Given the description of an element on the screen output the (x, y) to click on. 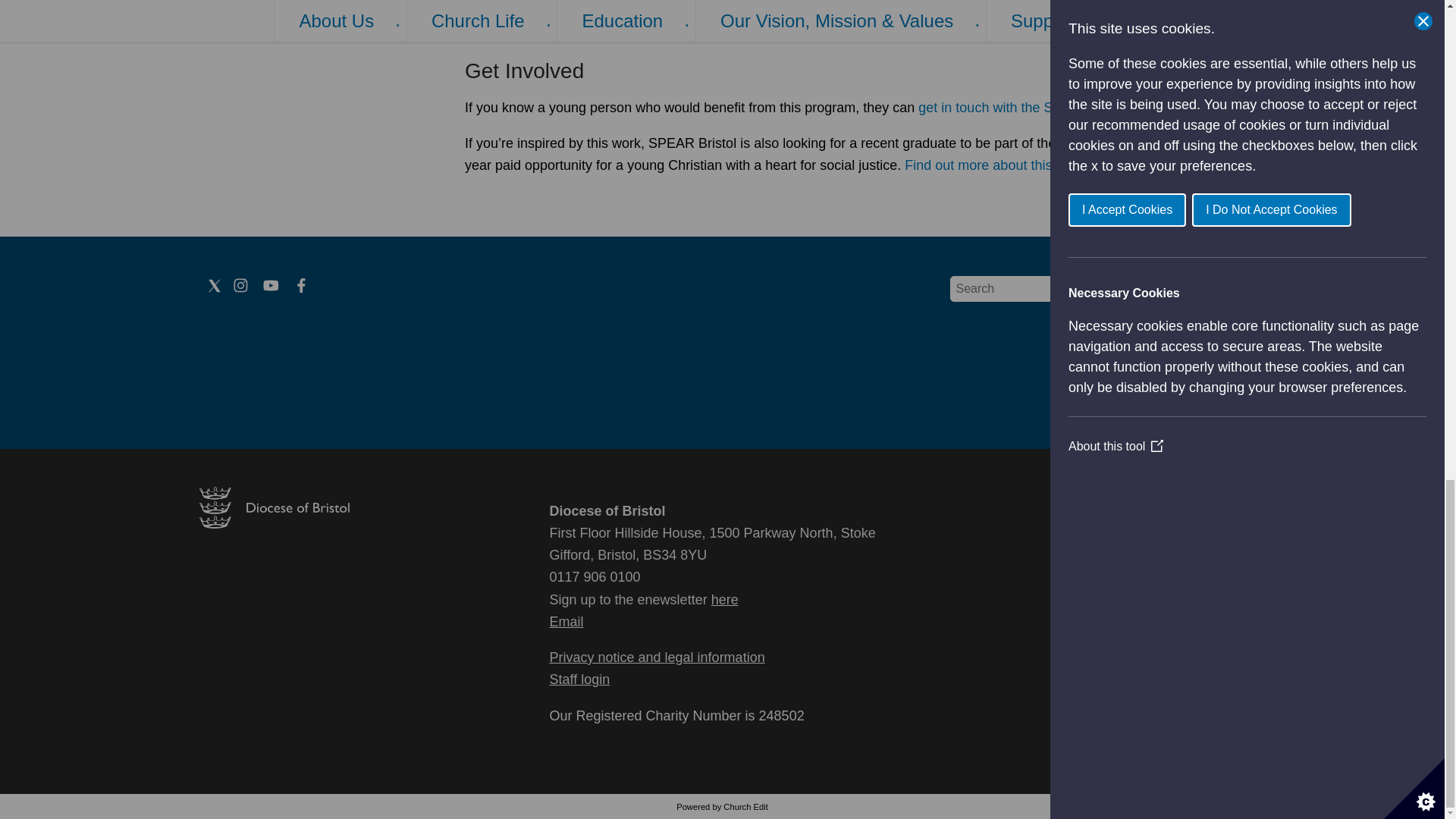
Diocese of Bristol Logo (273, 523)
